Given the description of an element on the screen output the (x, y) to click on. 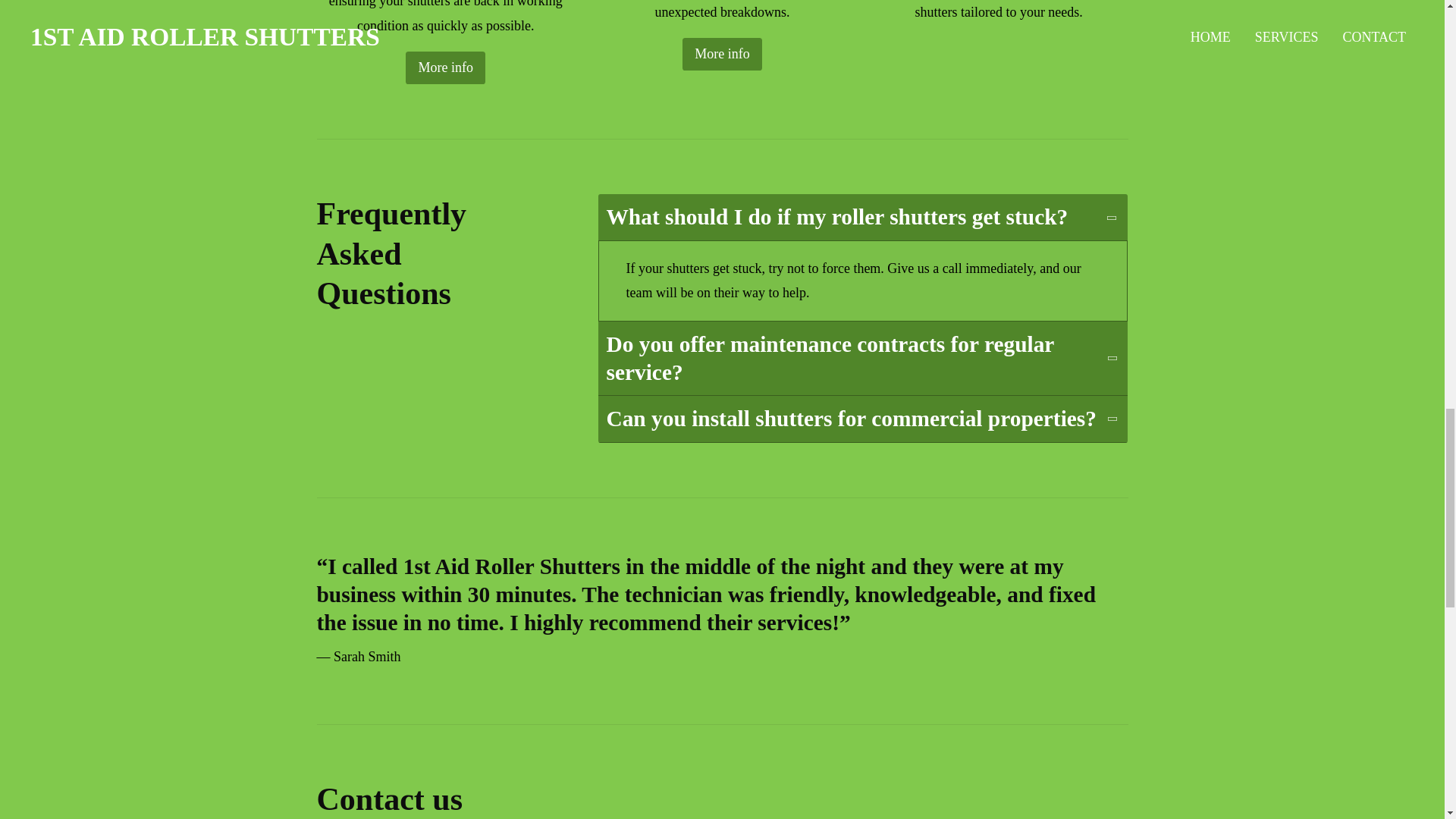
More info (445, 67)
More info (721, 53)
